Given the description of an element on the screen output the (x, y) to click on. 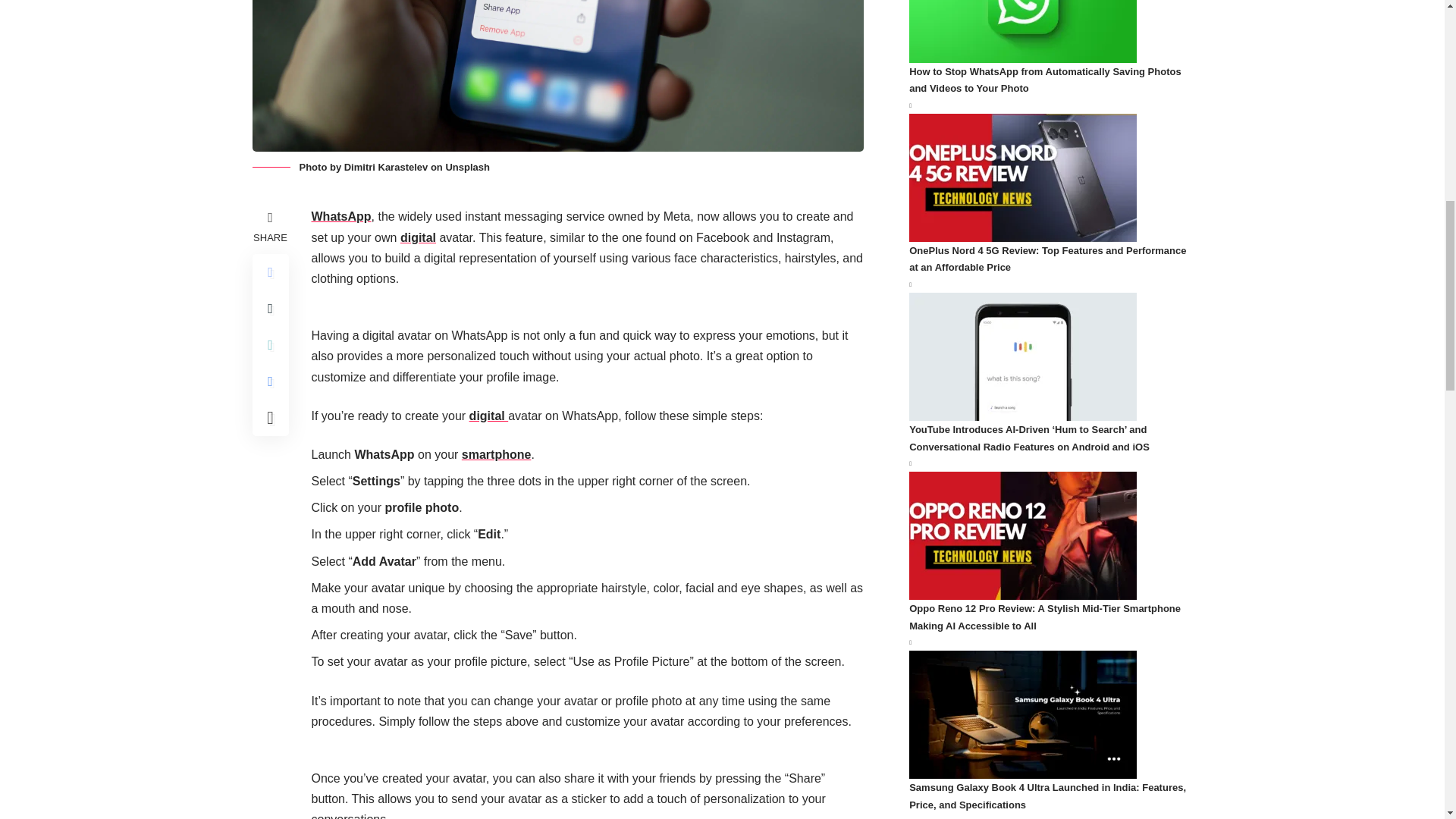
How to Create and Set Up Your Digital Avatar on WhatsApp 1 (557, 75)
